Given the description of an element on the screen output the (x, y) to click on. 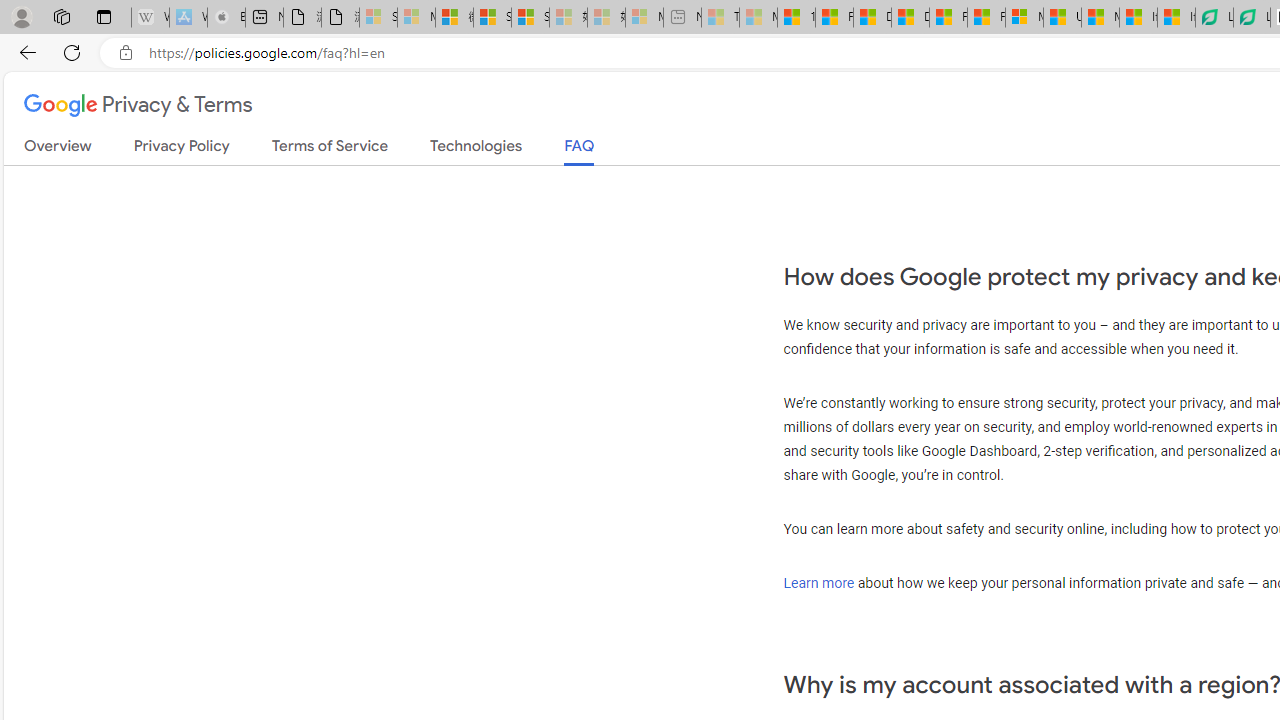
Privacy Policy (181, 150)
Marine life - MSN - Sleeping (757, 17)
